Given the description of an element on the screen output the (x, y) to click on. 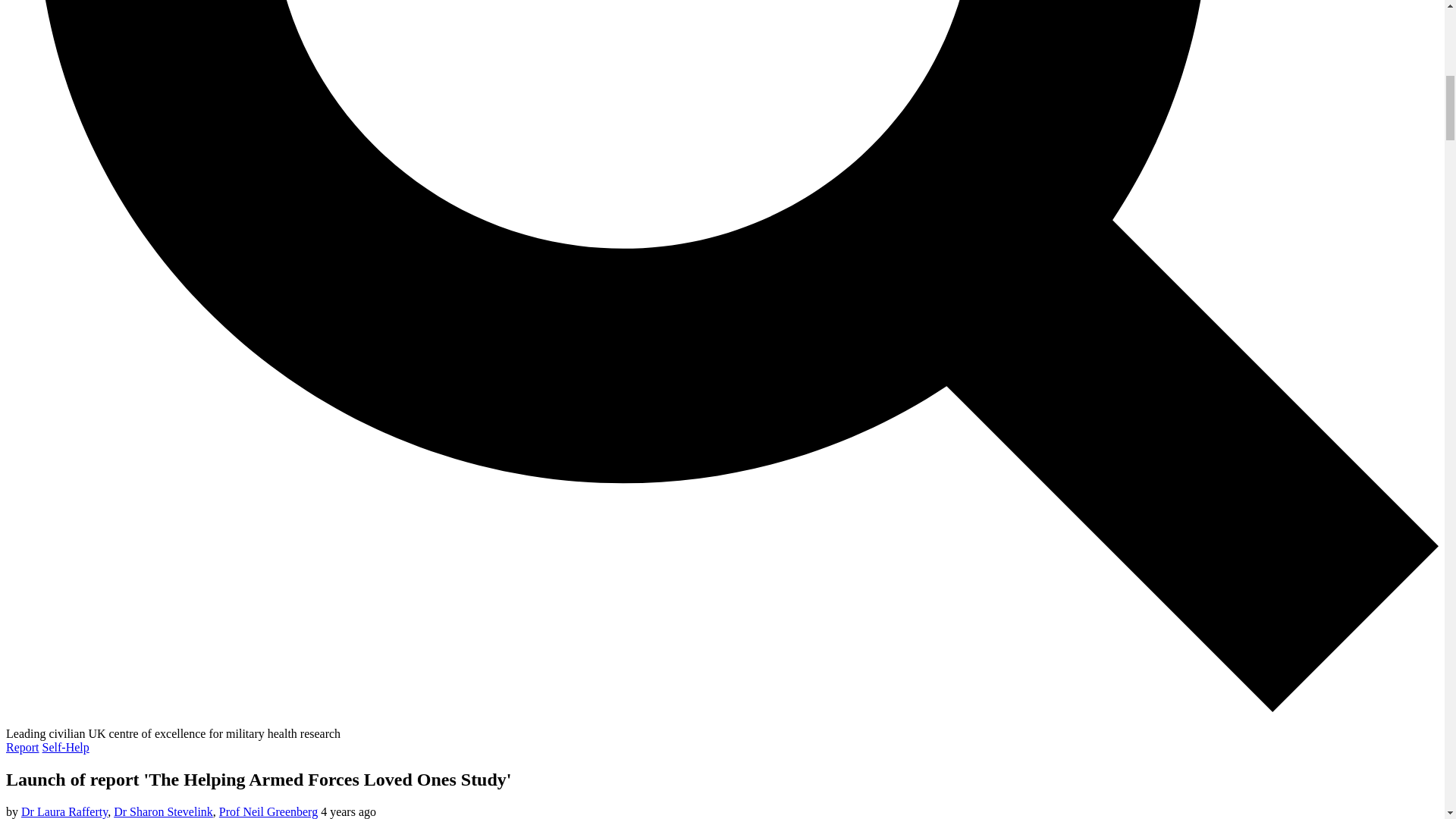
Report (22, 747)
Dr Laura Rafferty (64, 811)
Dr Sharon Stevelink (162, 811)
Prof Neil Greenberg (268, 811)
Self-Help (65, 747)
